Given the description of an element on the screen output the (x, y) to click on. 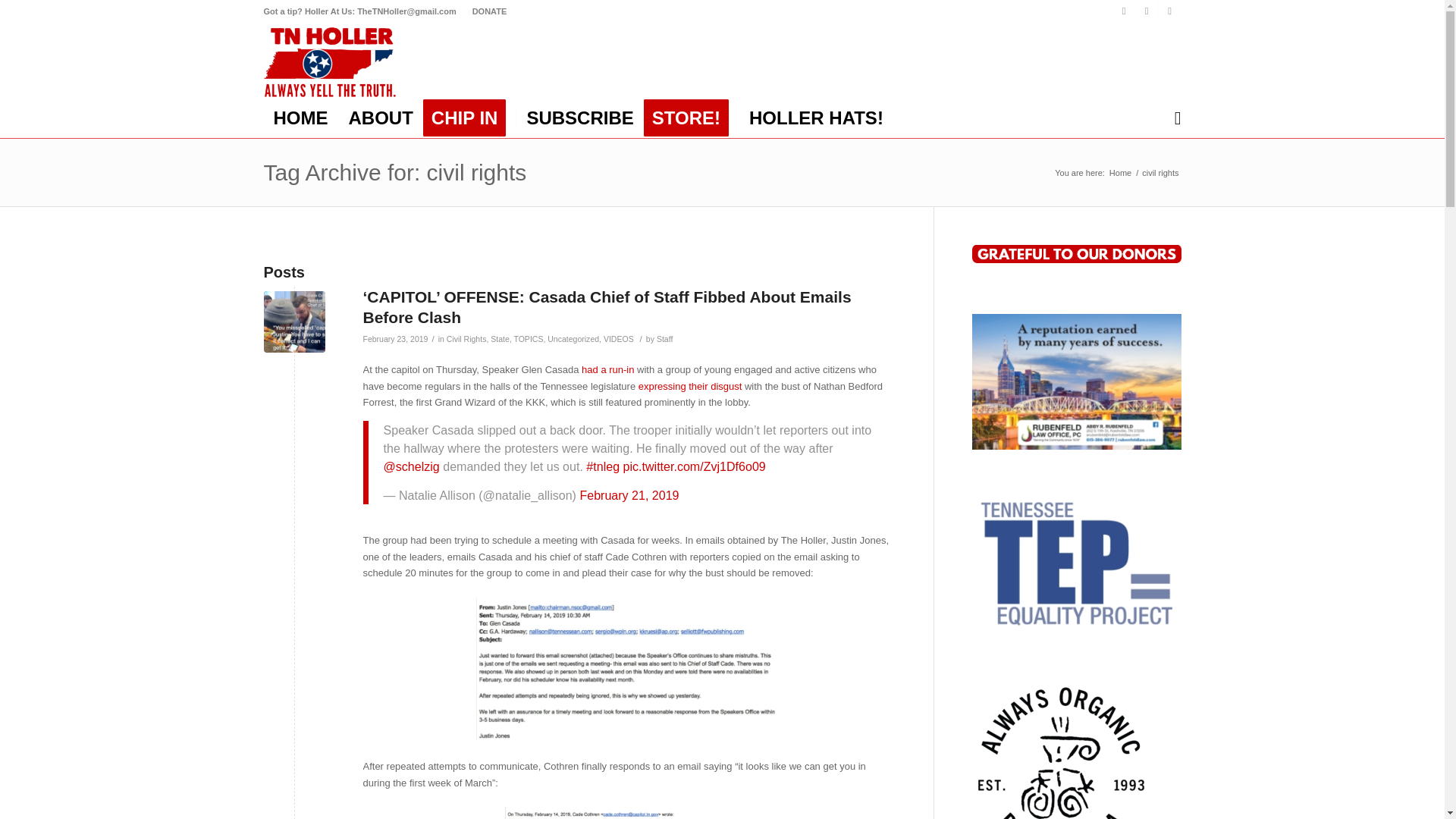
SUBSCRIBE (579, 118)
Uncategorized (572, 338)
had a run-in (606, 369)
Permanent Link: Tag Archive for: civil rights (395, 172)
ABOUT (380, 118)
State (499, 338)
Posts by Staff (664, 338)
Tag Archive for: civil rights (395, 172)
VIDEOS (618, 338)
TOPICS (528, 338)
